Given the description of an element on the screen output the (x, y) to click on. 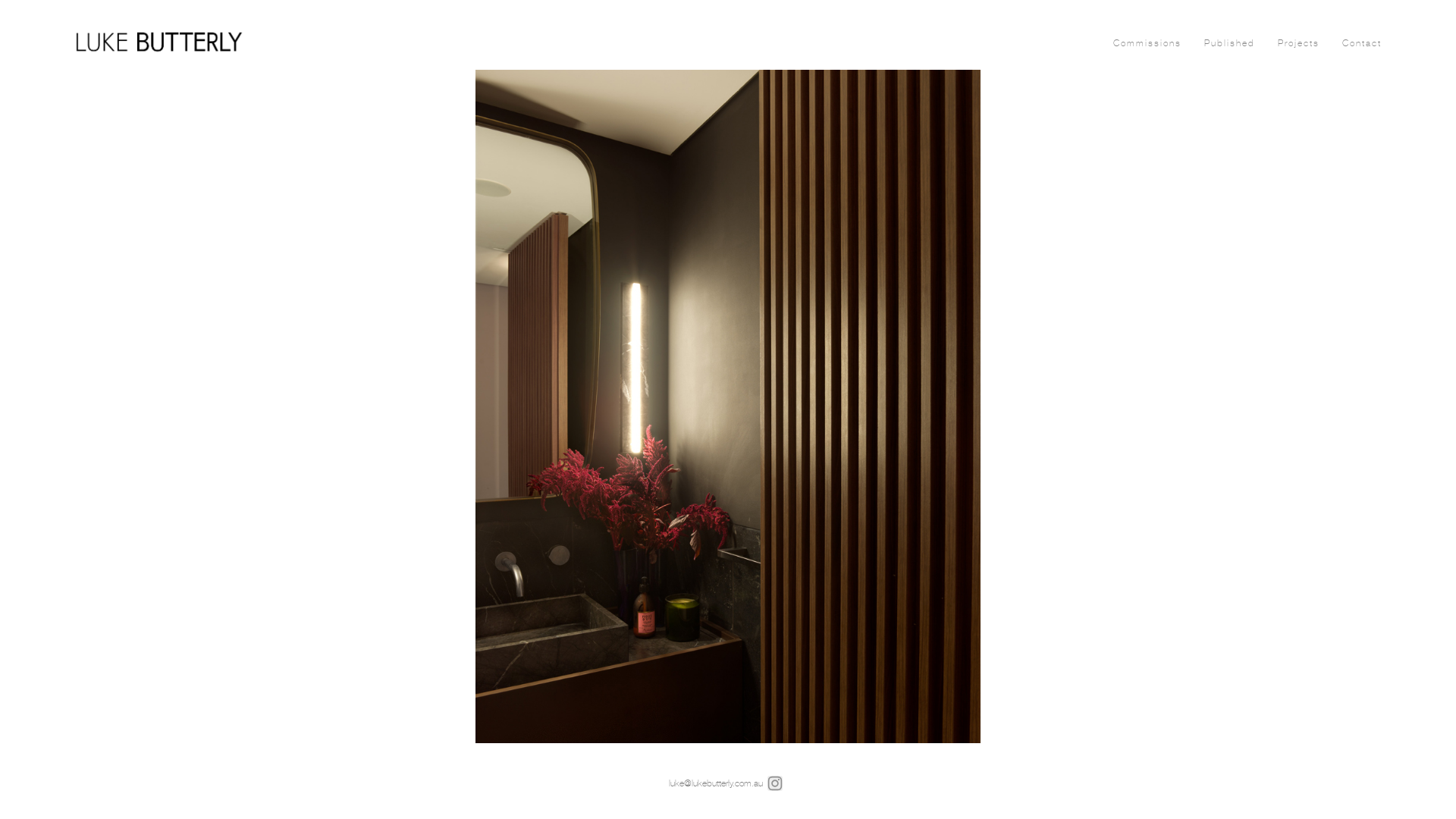
Commissions Element type: text (1147, 42)
Contact Element type: text (1361, 42)
Projects Element type: text (1298, 42)
luke@lukebutterly.com.au Element type: text (715, 783)
Published Element type: text (1229, 42)
